Given the description of an element on the screen output the (x, y) to click on. 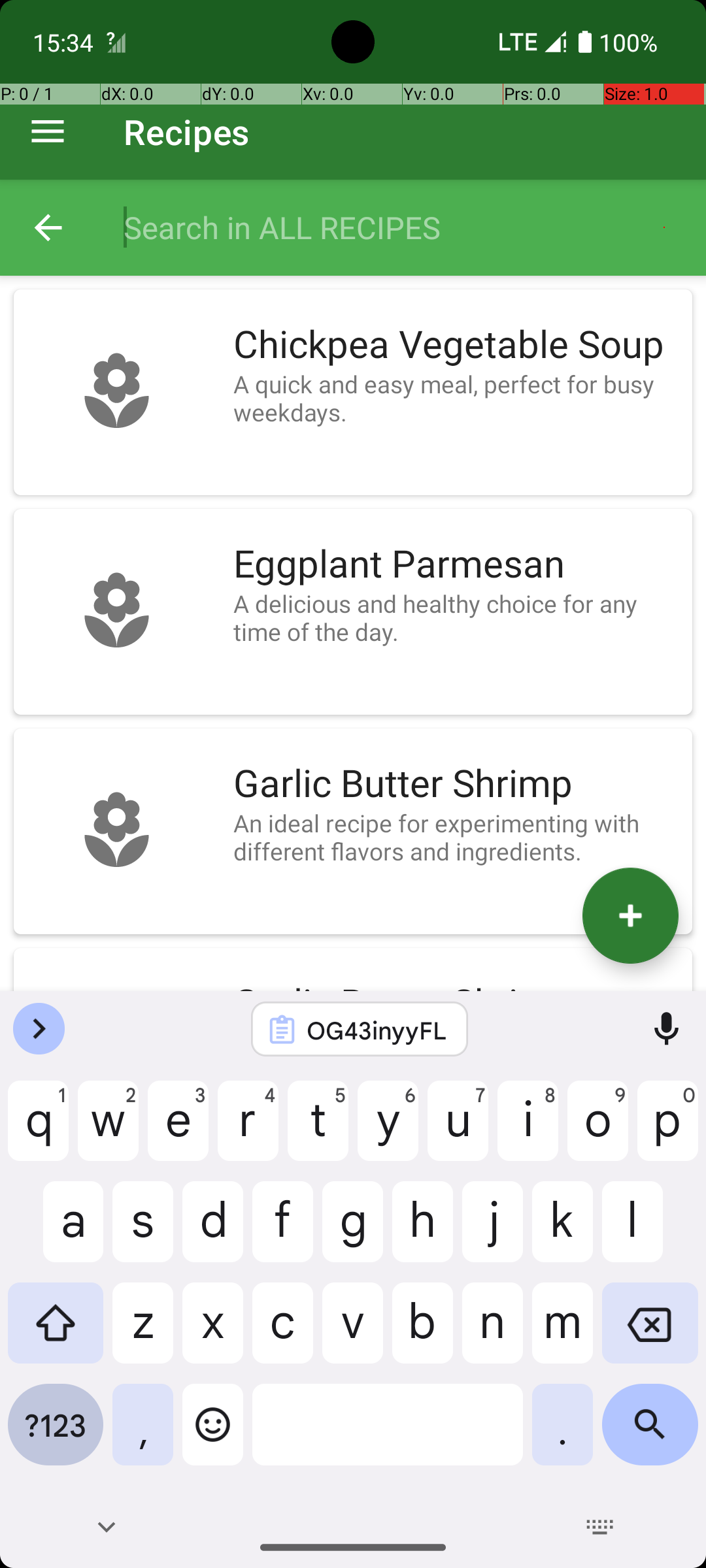
Search in ALL RECIPES Element type: android.widget.AutoCompleteTextView (400, 227)
OG43inyyFL Element type: android.widget.TextView (376, 1029)
